Given the description of an element on the screen output the (x, y) to click on. 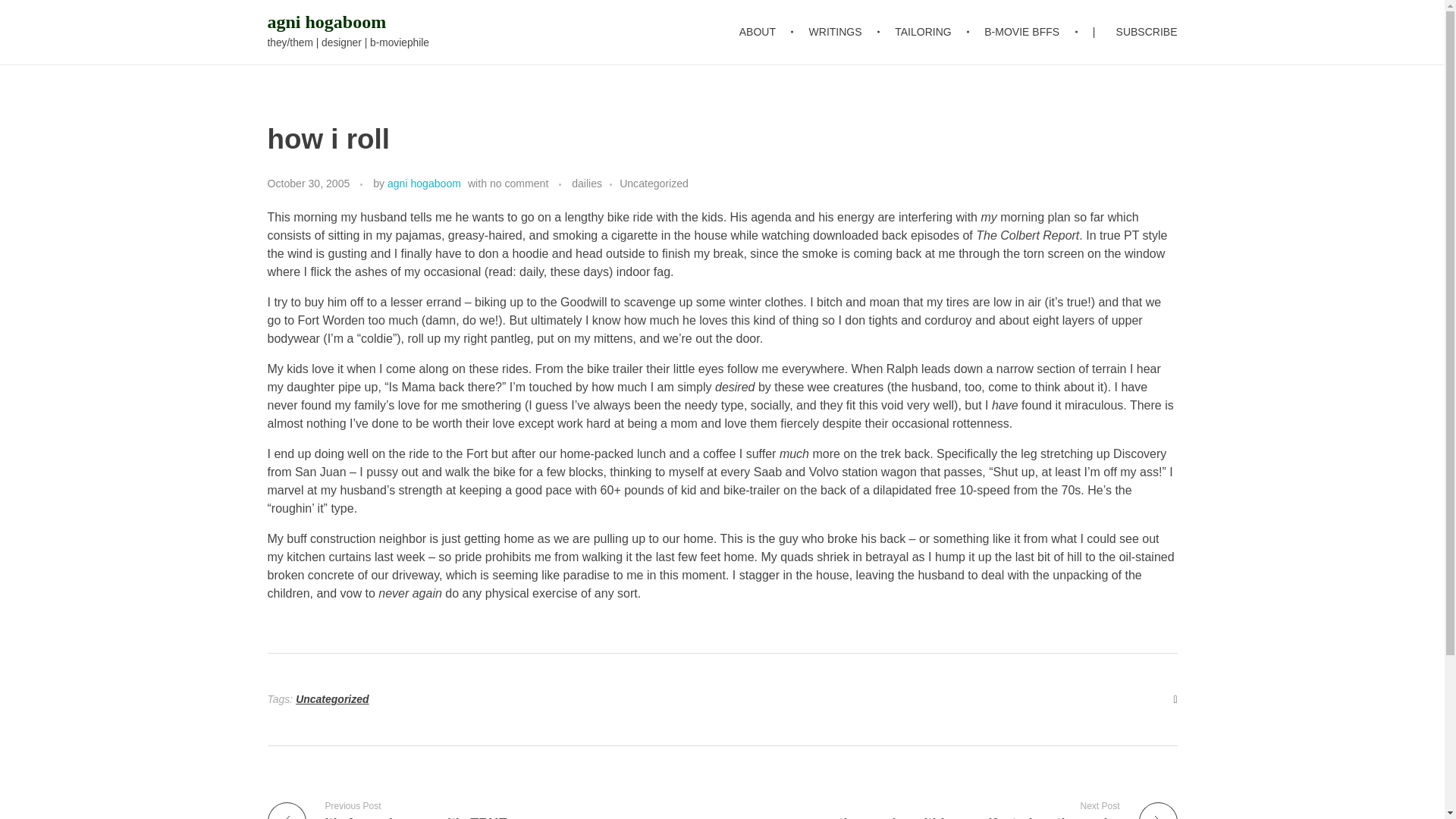
View all posts in Uncategorized (654, 183)
WRITINGS (837, 32)
agni hogaboom (325, 21)
Uncategorized (654, 183)
dailies (596, 183)
TAILORING (925, 32)
agni hogaboom (325, 21)
agni hogaboom (424, 183)
B-MOVIE BFFS (1024, 32)
View all posts in dailies (596, 183)
